Given the description of an element on the screen output the (x, y) to click on. 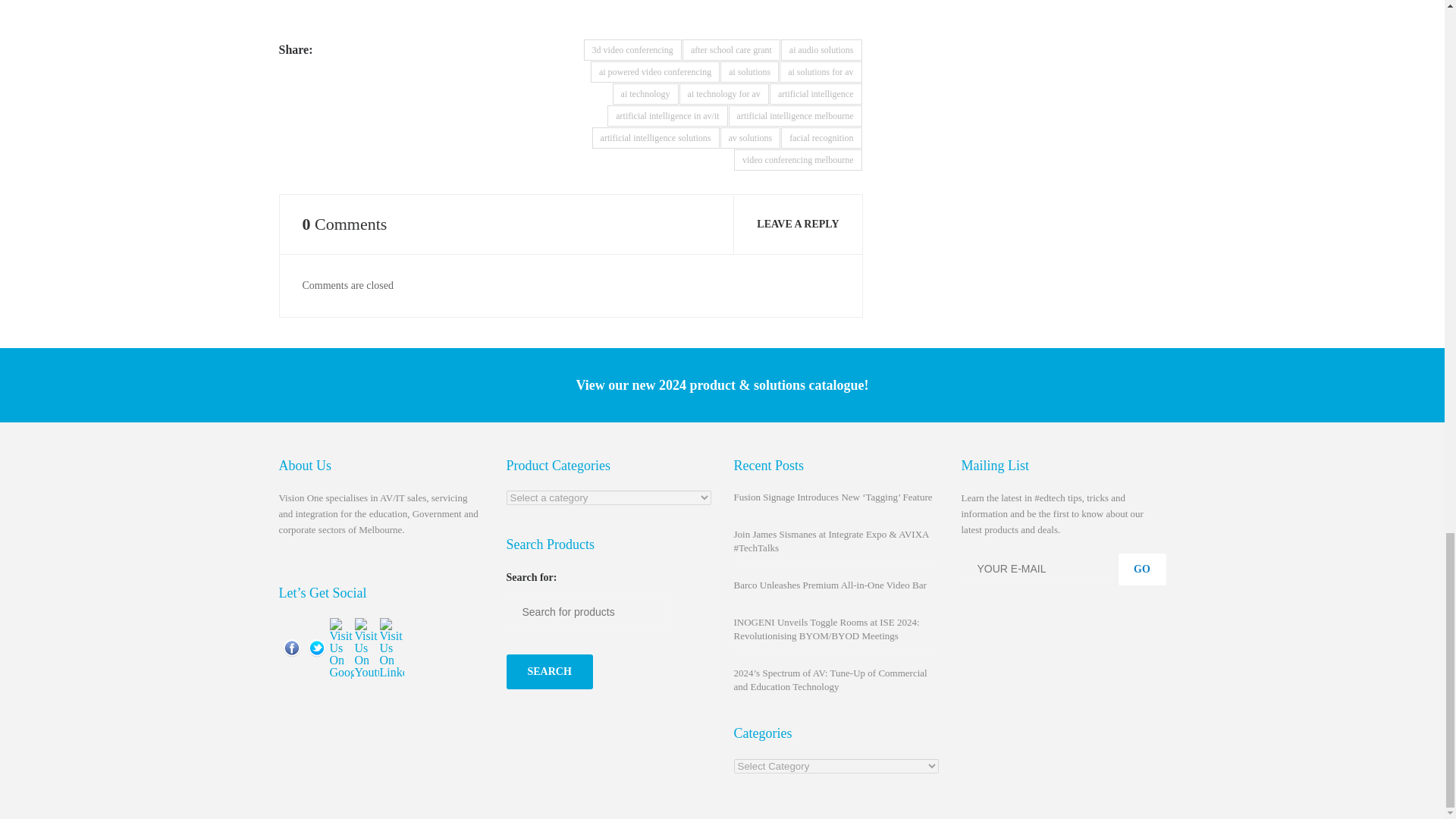
Search (549, 671)
Visit Us On Facebook (291, 646)
Visit Us On GooglePlus (341, 646)
Visit Us On Twitter (315, 646)
Visit Us On Youtube (365, 646)
Visit Us On Linkedin (391, 646)
